Given the description of an element on the screen output the (x, y) to click on. 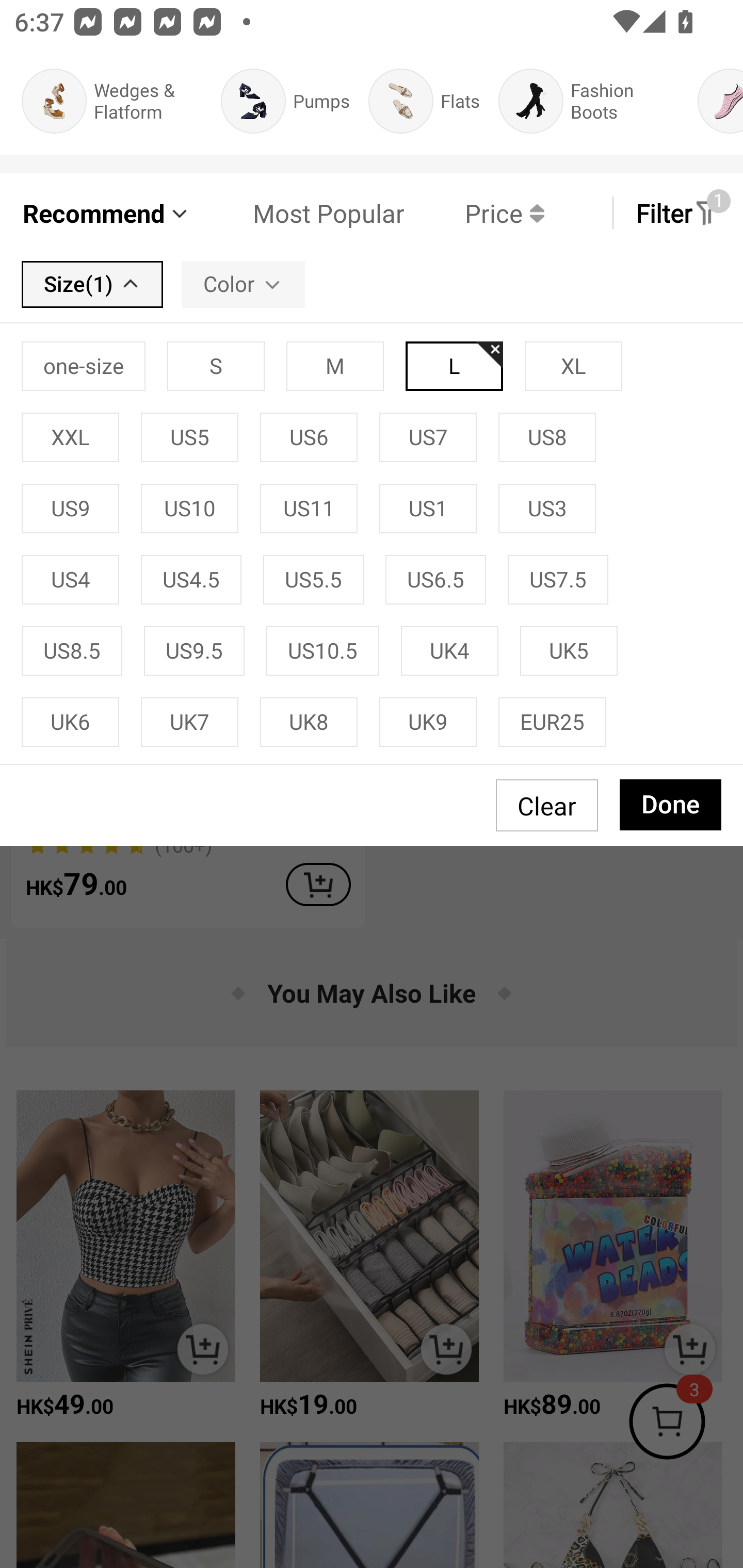
Wedges & Flatform (111, 100)
Pumps (284, 100)
Flats (423, 100)
Fashion Boots (588, 100)
Recommend (106, 213)
Most Popular (297, 213)
Price (474, 213)
Filter 1 (677, 213)
Size(1) (91, 283)
Color (242, 283)
